Given the description of an element on the screen output the (x, y) to click on. 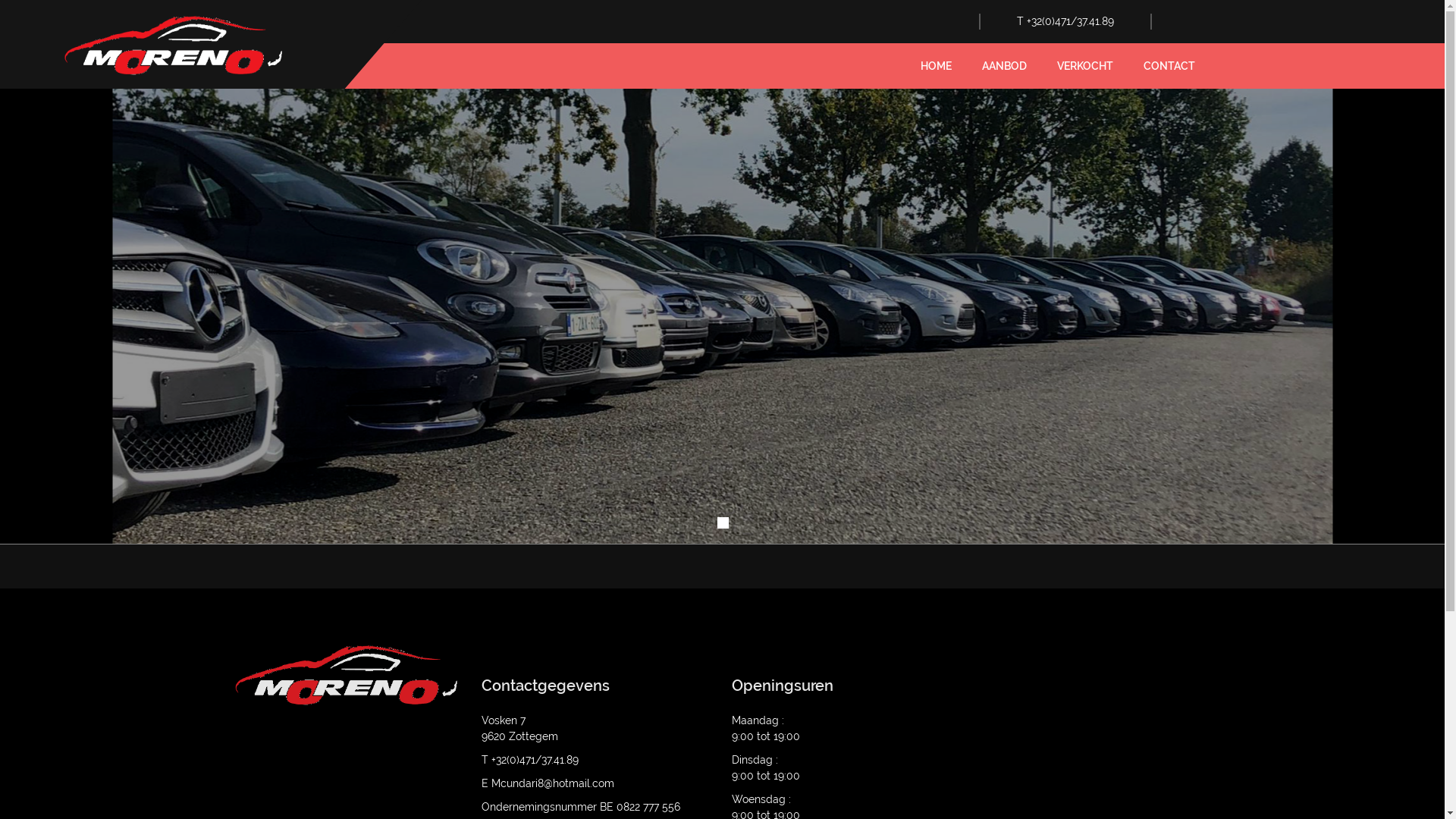
T +32(0)471/37.41.89 Element type: text (528, 759)
Dinsdag :
9:00 tot 19:00 Element type: text (765, 767)
VERKOCHT Element type: text (1084, 65)
HOME Element type: text (936, 65)
CONTACT Element type: text (1168, 65)
Maandag :
9:00 tot 19:00 Element type: text (765, 728)
AANBOD Element type: text (1003, 65)
Ondernemingsnummer BE 0822 777 556 Element type: text (579, 806)
E Mcundari8@hotmail.com Element type: text (546, 783)
T +32(0)471/37.41.89 Element type: text (1064, 21)
Vosken 7
9620 Zottegem Element type: text (518, 728)
